Given the description of an element on the screen output the (x, y) to click on. 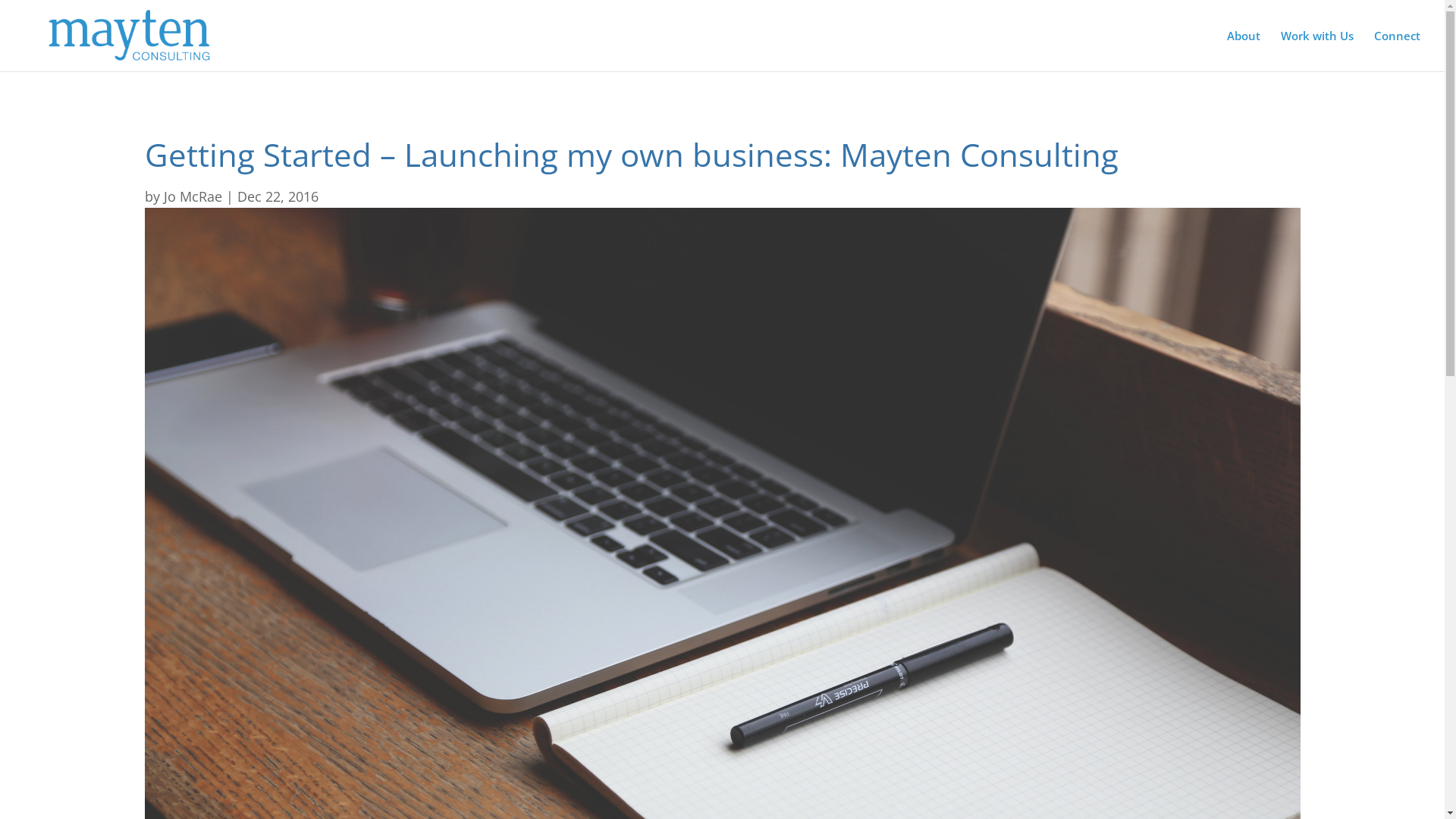
Connect Element type: text (1397, 50)
Jo McRae Element type: text (192, 196)
About Element type: text (1243, 50)
Work with Us Element type: text (1316, 50)
